Given the description of an element on the screen output the (x, y) to click on. 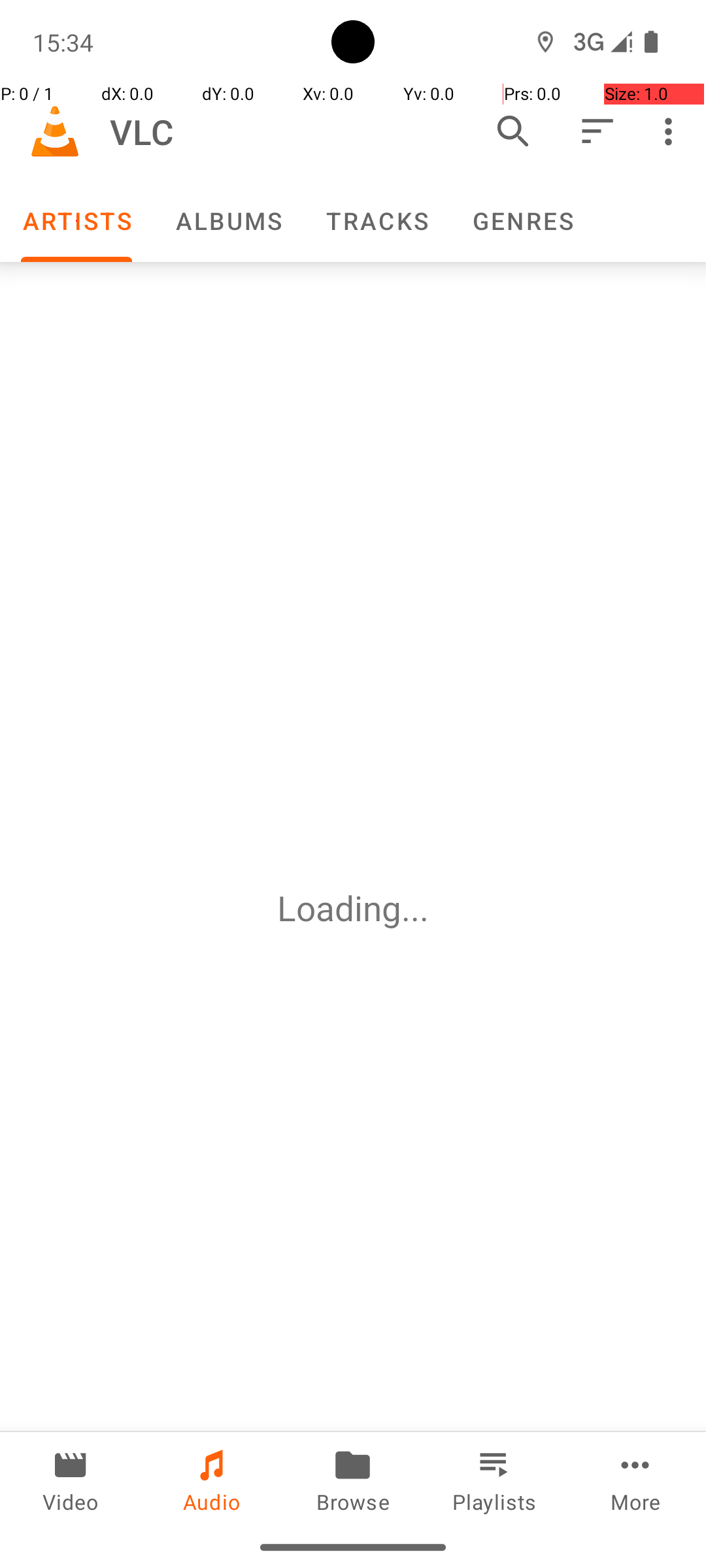
Sort by… Element type: android.widget.TextView (595, 131)
Loading Element type: android.widget.TextView (339, 907)
Tracks Element type: android.widget.LinearLayout (376, 220)
Genres Element type: android.widget.LinearLayout (521, 220)
Video Element type: android.widget.FrameLayout (70, 1478)
Browse Element type: android.widget.FrameLayout (352, 1478)
ARTISTS Element type: android.widget.TextView (76, 220)
ALBUMS Element type: android.widget.TextView (227, 220)
TRACKS Element type: android.widget.TextView (376, 220)
GENRES Element type: android.widget.TextView (521, 220)
